Given the description of an element on the screen output the (x, y) to click on. 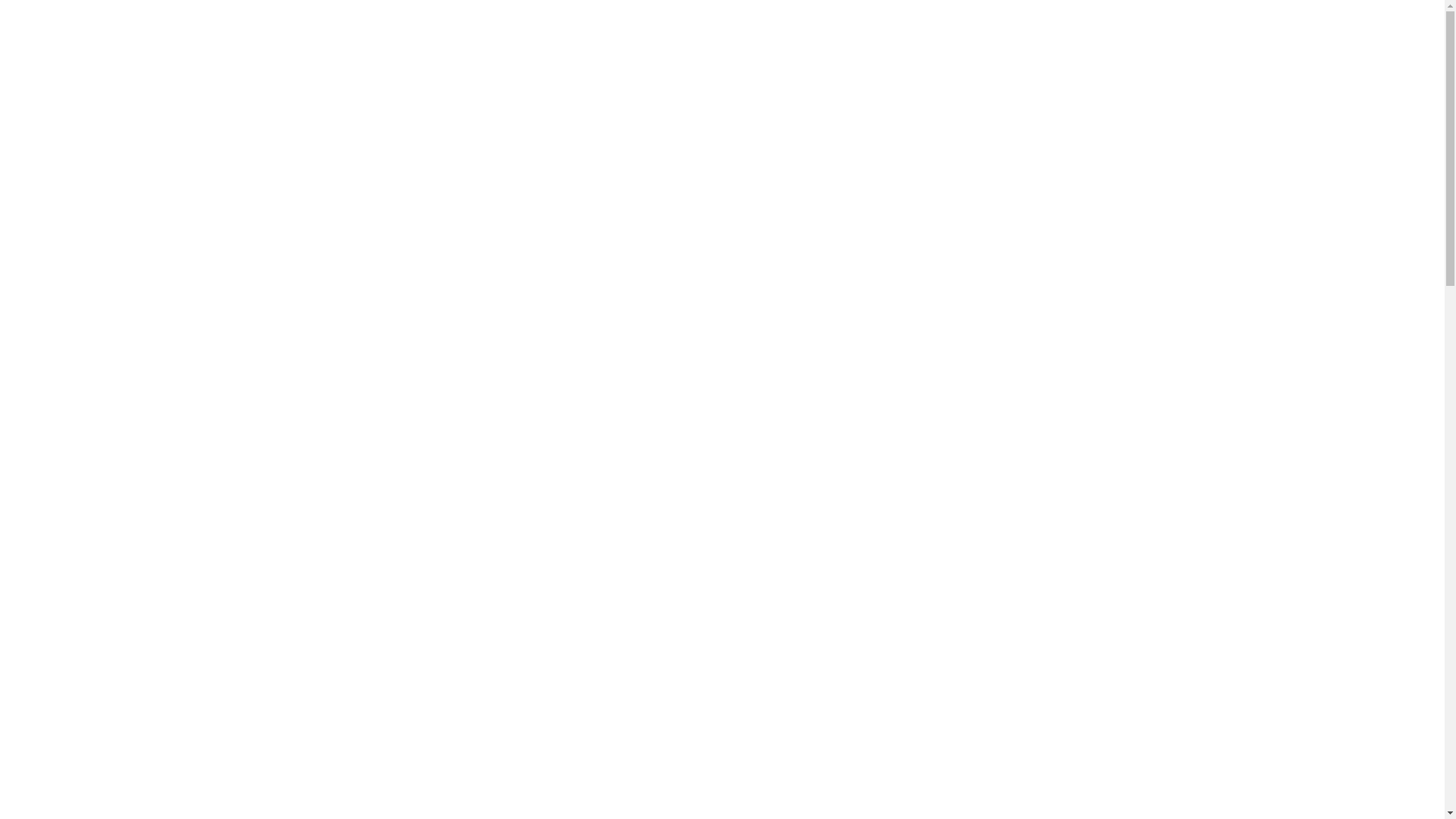
Advertisement Element type: hover (282, 422)
Search Element type: text (162, 778)
